Given the description of an element on the screen output the (x, y) to click on. 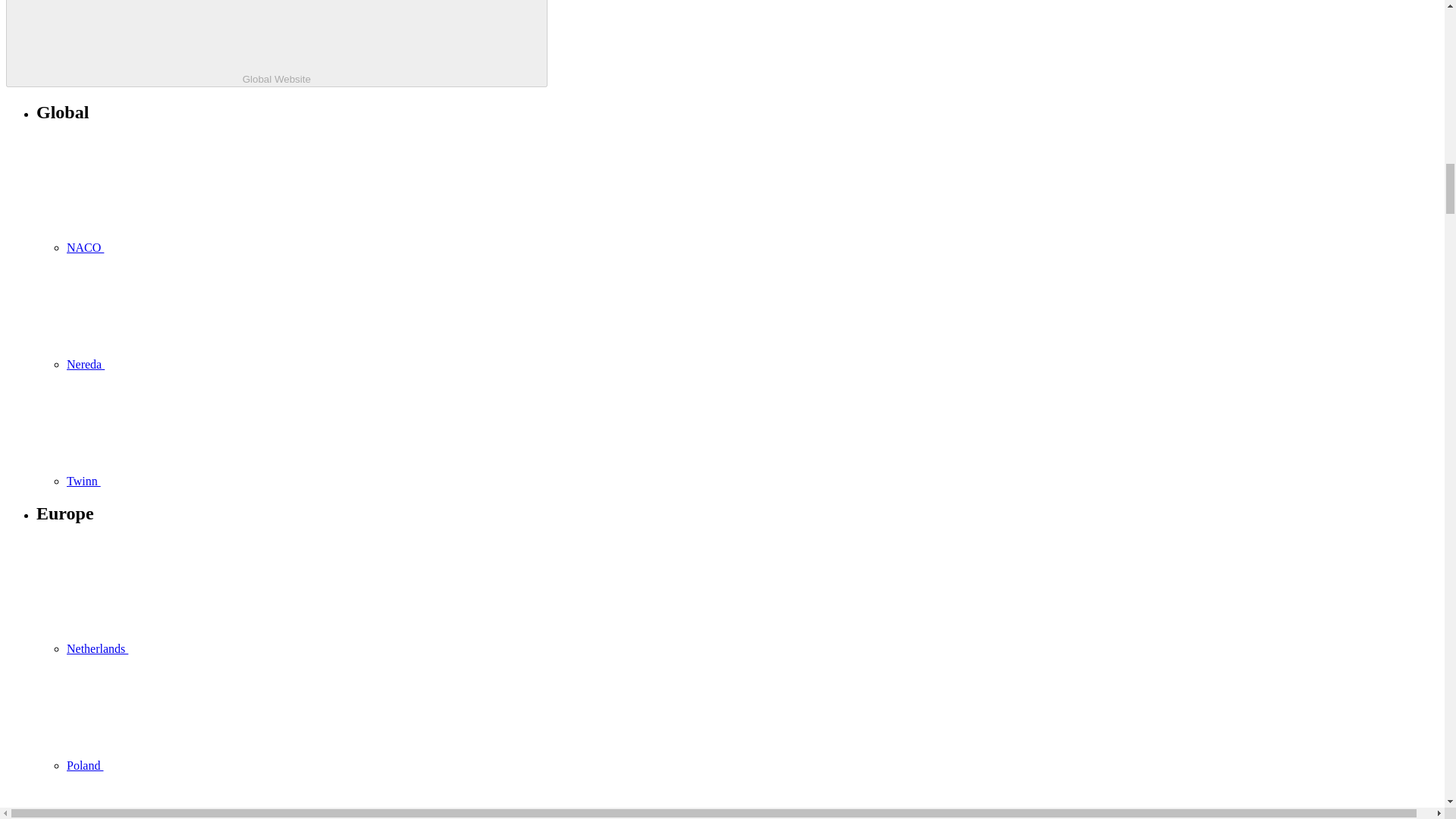
Global Website (276, 43)
Nereda (198, 364)
NACO (198, 246)
